Given the description of an element on the screen output the (x, y) to click on. 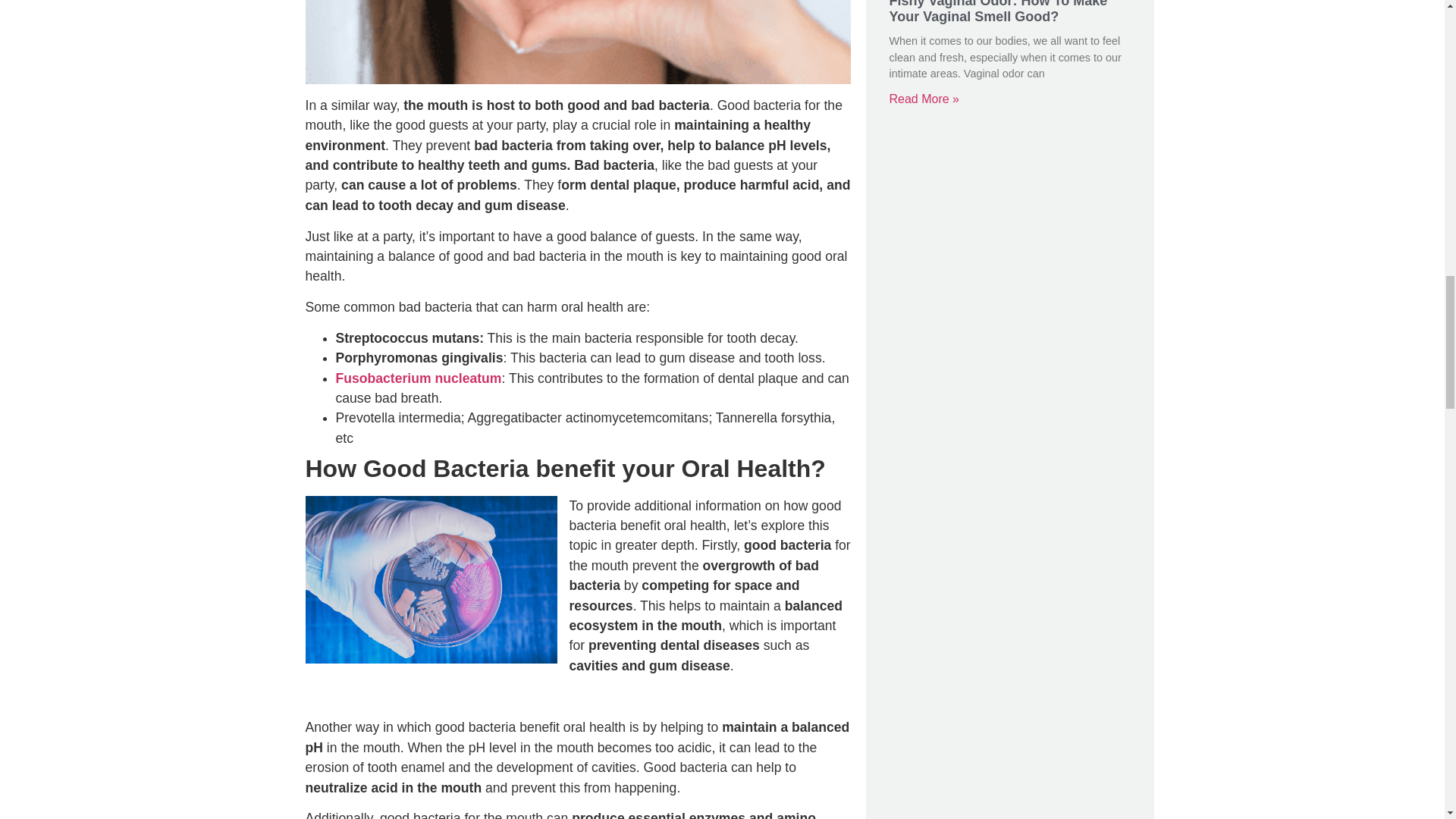
Fusobacterium nucleatum (417, 378)
